Given the description of an element on the screen output the (x, y) to click on. 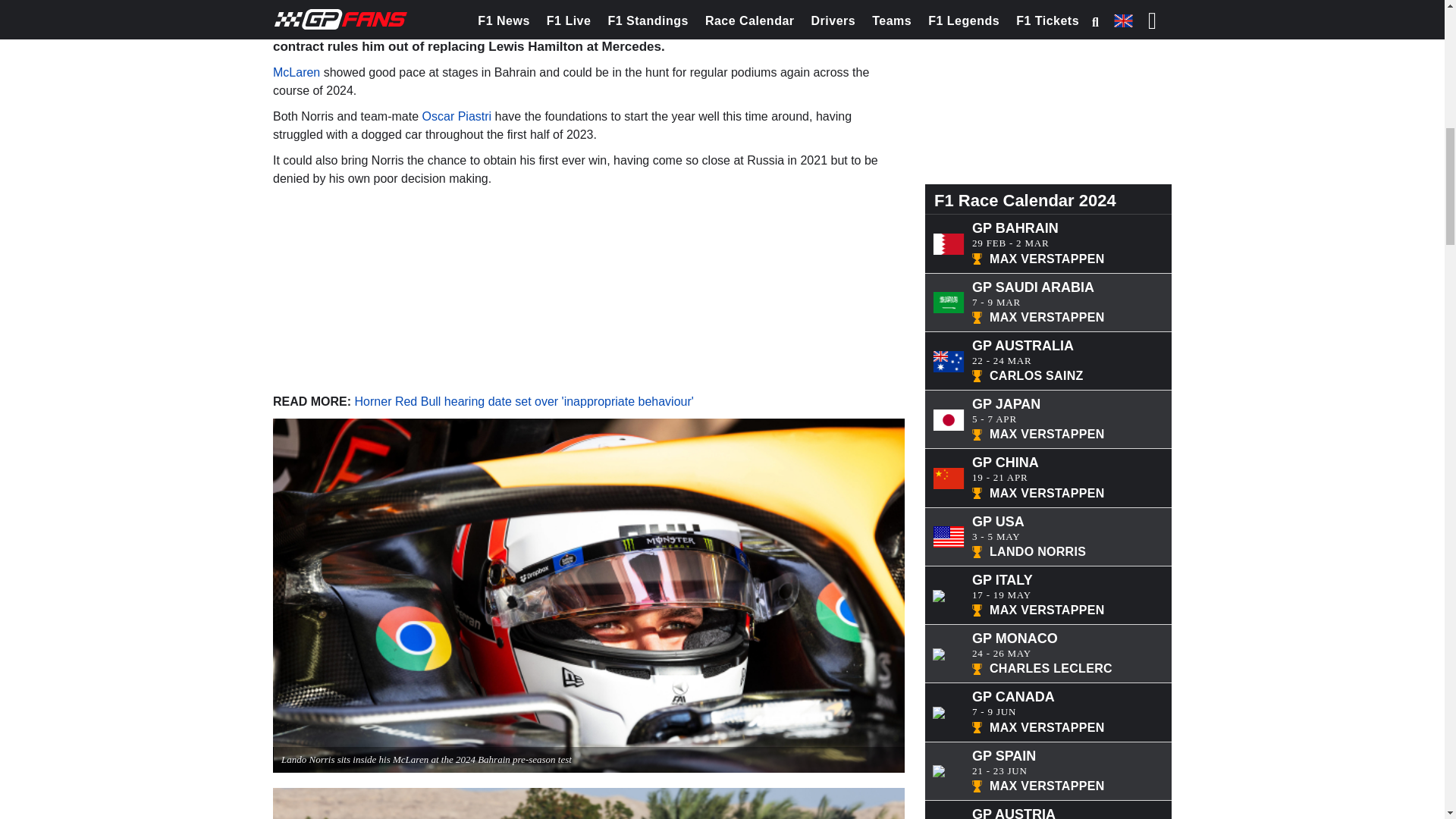
Oscar Piastri (458, 115)
Lando Norris (313, 8)
McLaren (296, 72)
McLaren (679, 8)
Oscar Piastri  (458, 115)
McLaren (296, 72)
Lando Norris (313, 8)
McLaren (679, 8)
